Given the description of an element on the screen output the (x, y) to click on. 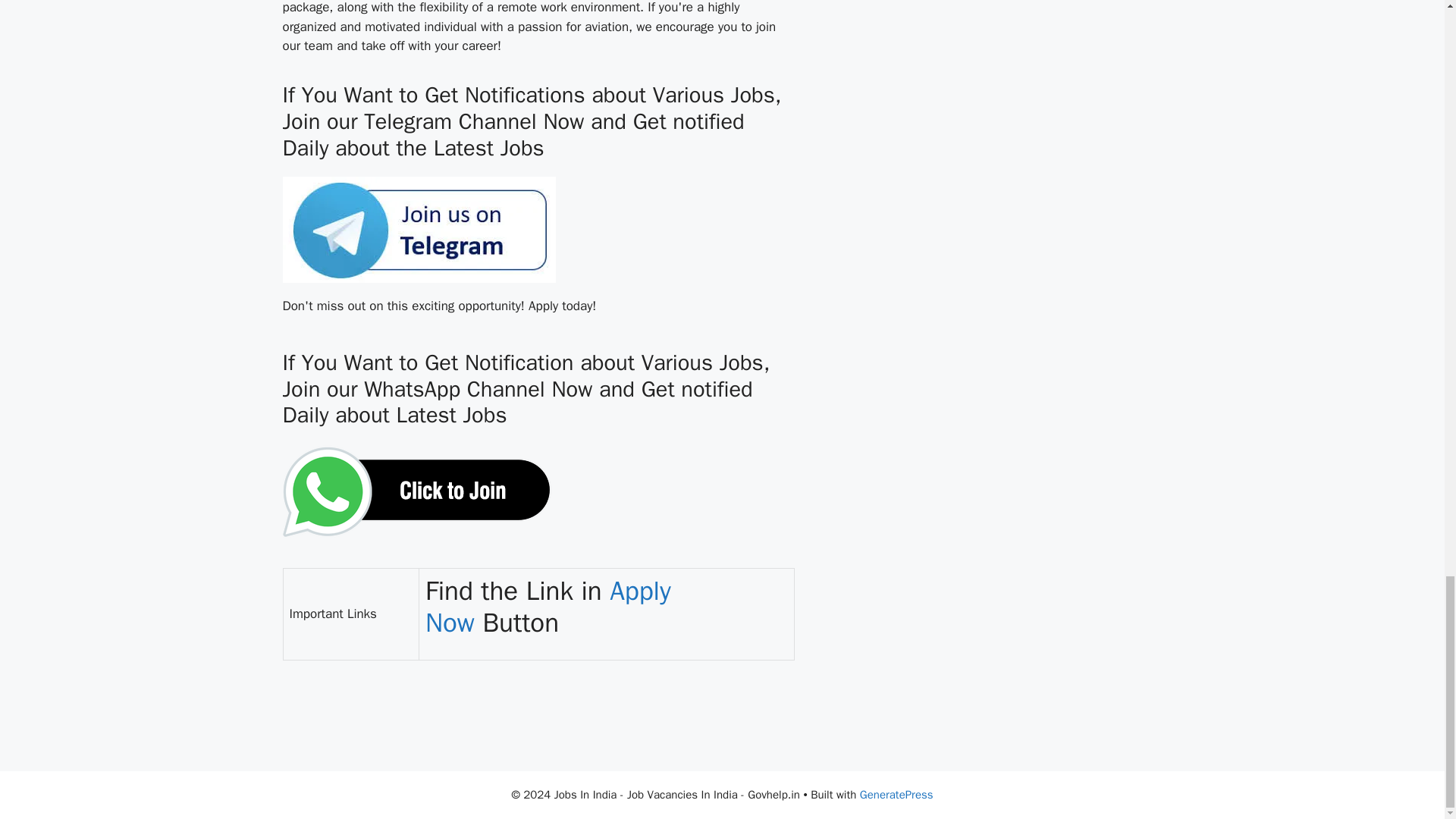
Apply Now (548, 606)
GeneratePress (896, 794)
